Given the description of an element on the screen output the (x, y) to click on. 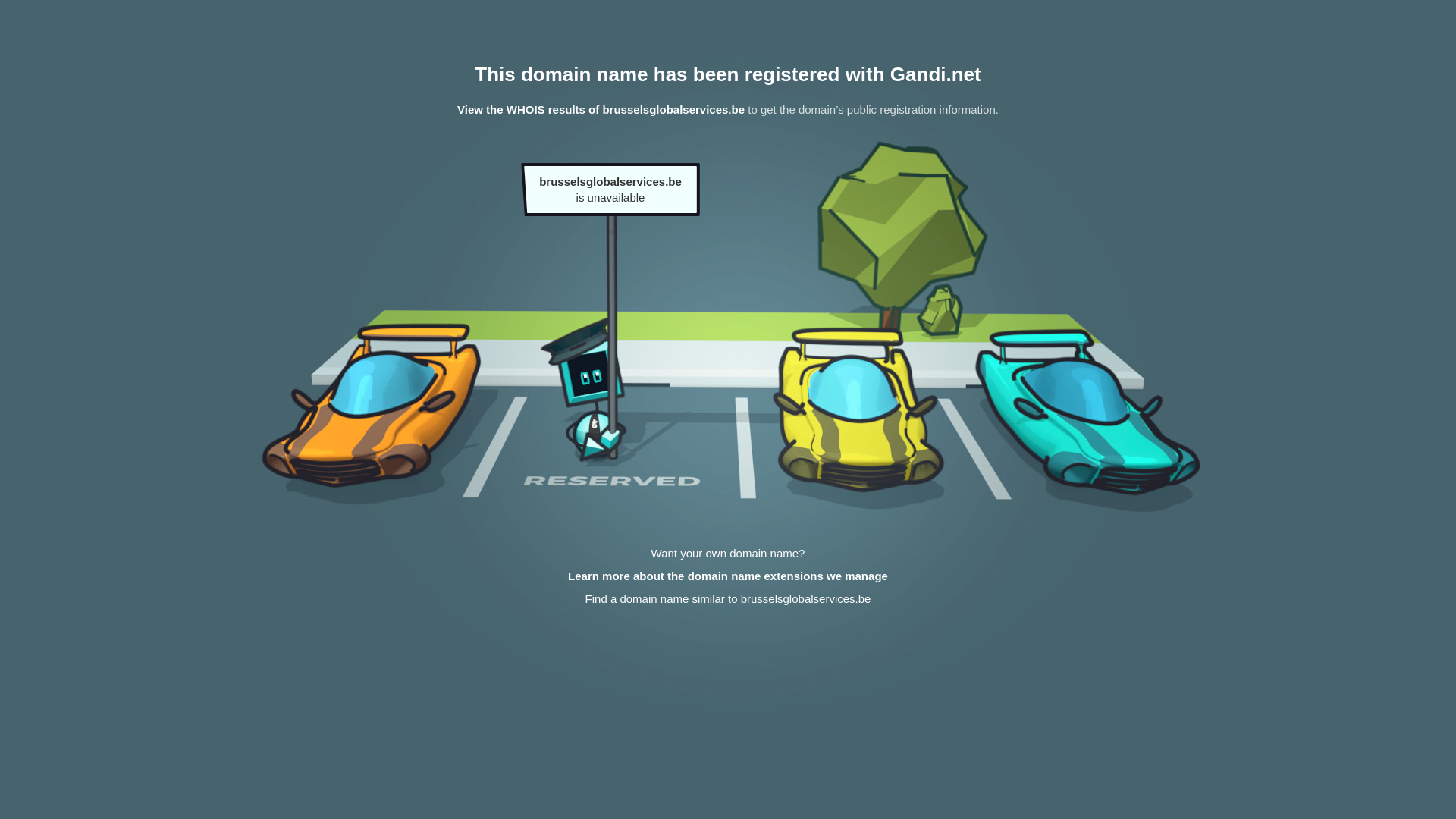
View the WHOIS results of brusselsglobalservices.be Element type: text (600, 109)
Find a domain name similar to brusselsglobalservices.be Element type: text (728, 598)
Learn more about the domain name extensions we manage Element type: text (727, 575)
